Given the description of an element on the screen output the (x, y) to click on. 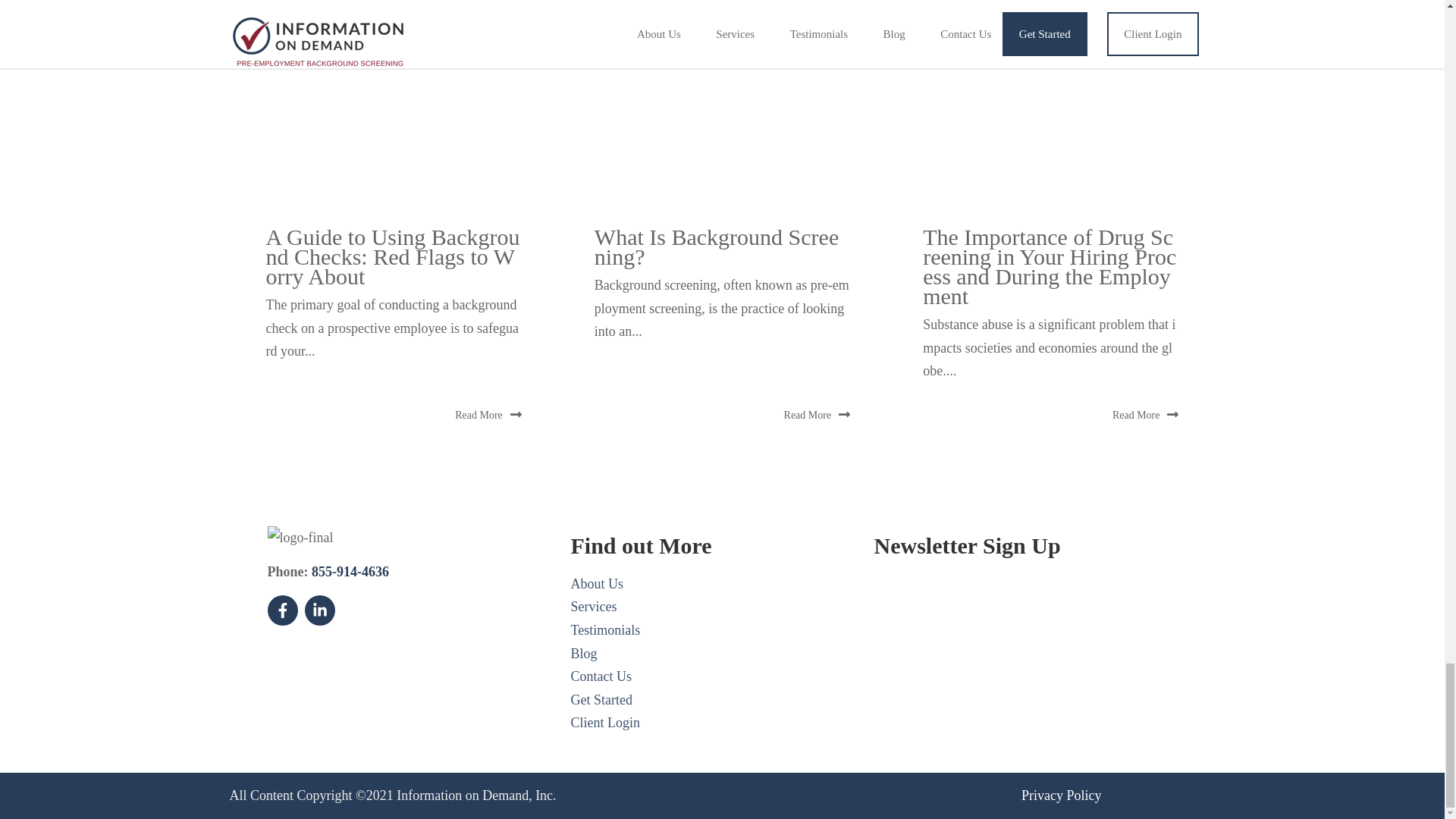
Contact Us (600, 676)
What Is Background Screening? (716, 246)
Services (592, 606)
Read More (487, 415)
Read More (817, 415)
Privacy Policy (1062, 795)
Get Started (600, 699)
A Guide to Using Background Checks: Red Flags to Worry About (391, 256)
Blog (583, 653)
Client Login (605, 722)
